Given the description of an element on the screen output the (x, y) to click on. 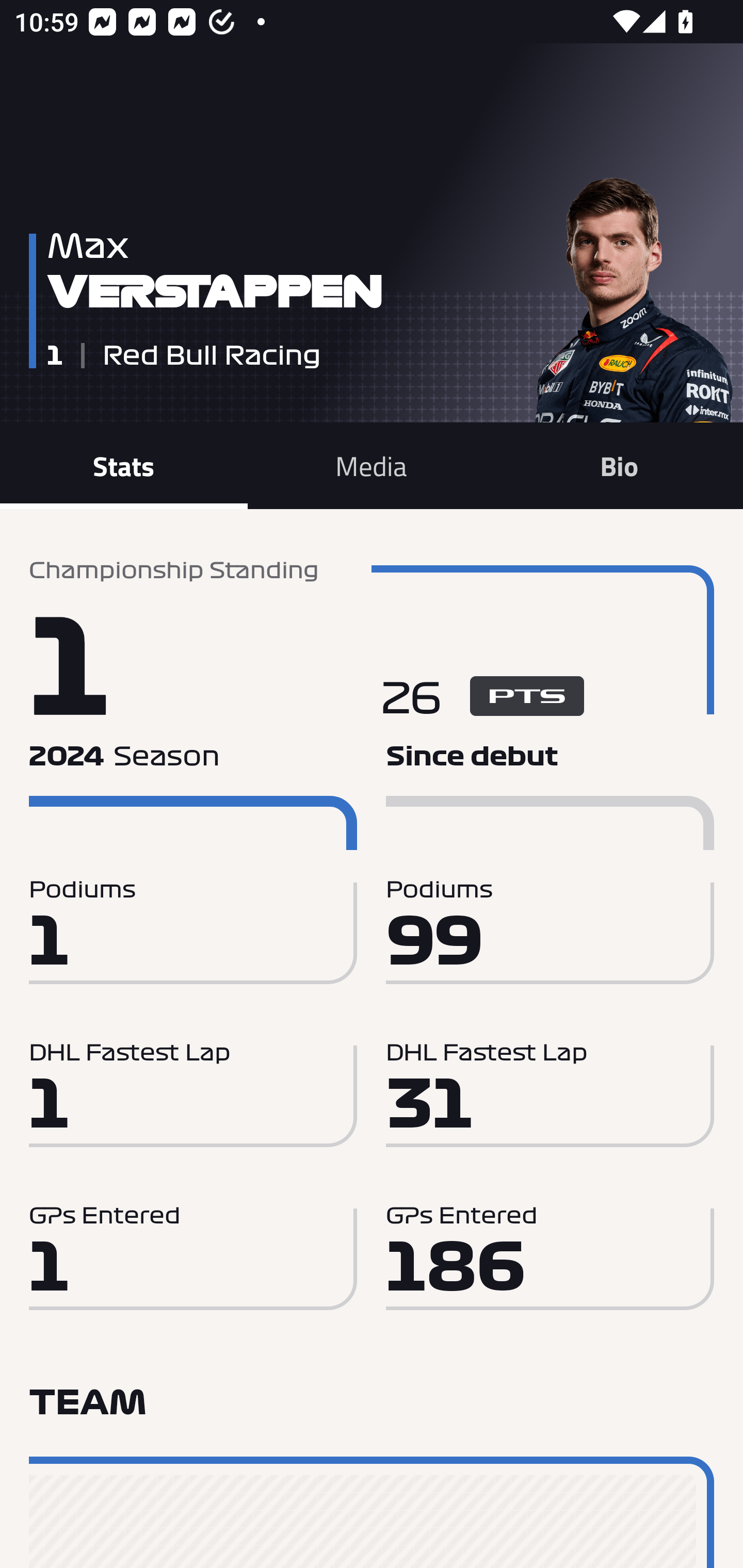
Media (371, 465)
Bio (619, 465)
